Given the description of an element on the screen output the (x, y) to click on. 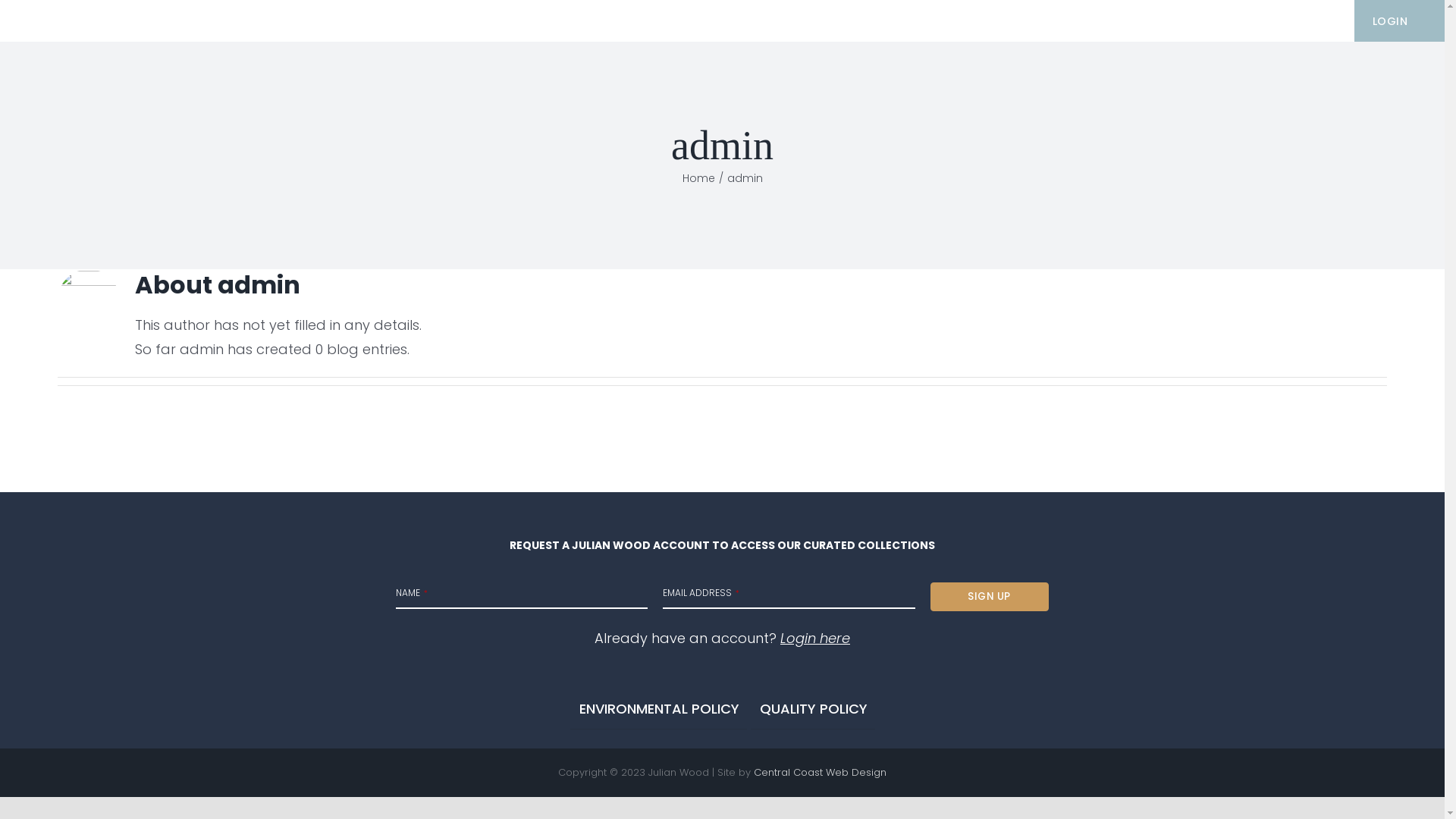
QUALITY POLICY Element type: text (813, 708)
Login here Element type: text (815, 637)
Home Element type: text (698, 177)
CUSTOMER SERVICE Element type: text (770, 20)
SIGN UP Element type: text (989, 596)
ENVIRONMENTAL POLICY Element type: text (659, 708)
Central Coast Web Design Element type: text (819, 772)
SERVICES Element type: text (915, 20)
LOGIN Element type: text (1390, 20)
CONTACT Element type: text (1288, 20)
ABOUT US Element type: text (1175, 20)
HOME Element type: text (643, 20)
SUSTAINABILITY Element type: text (1047, 20)
